Given the description of an element on the screen output the (x, y) to click on. 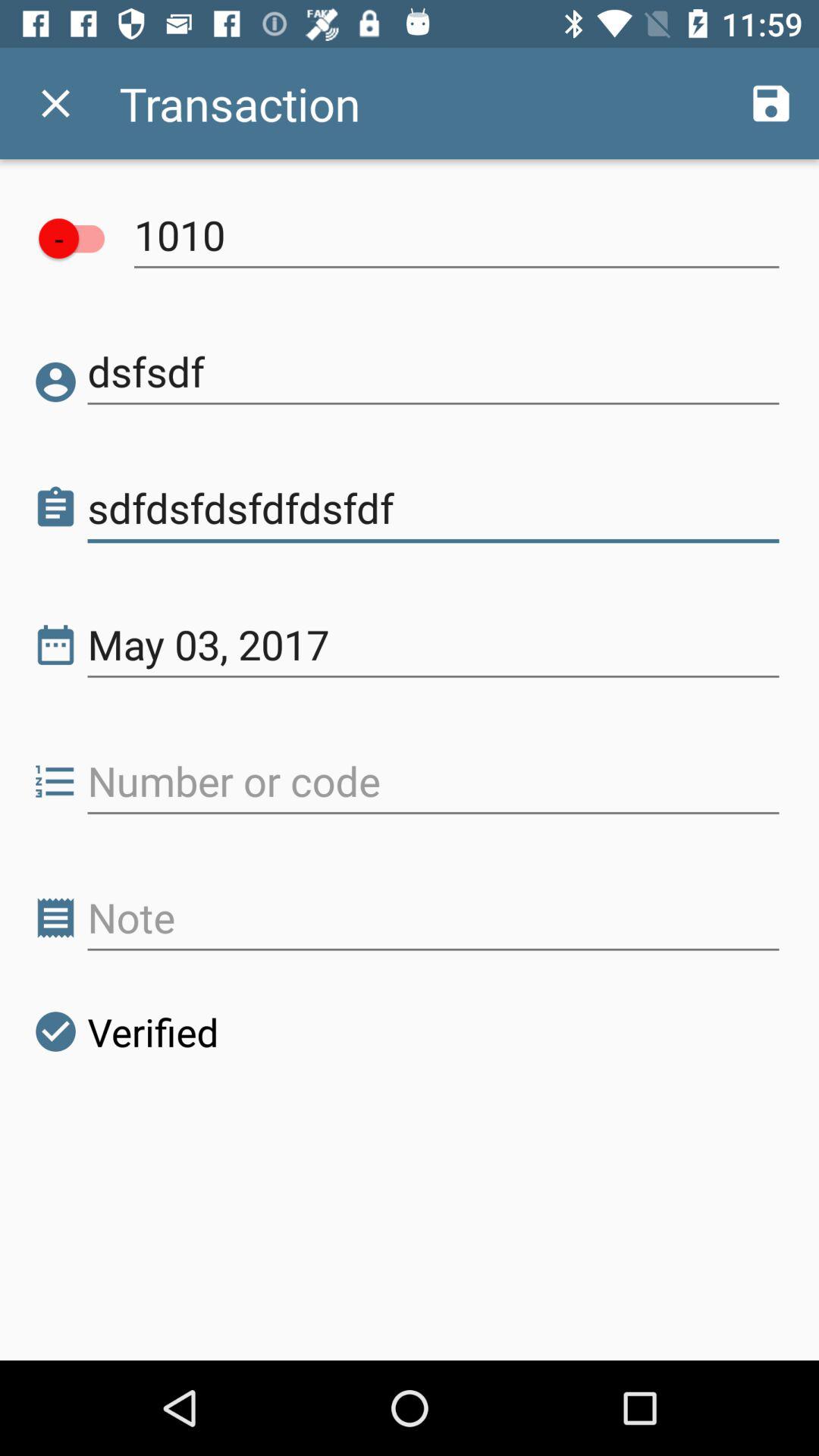
tap the icon to the left of the may 03, 2017 (55, 644)
